Given the description of an element on the screen output the (x, y) to click on. 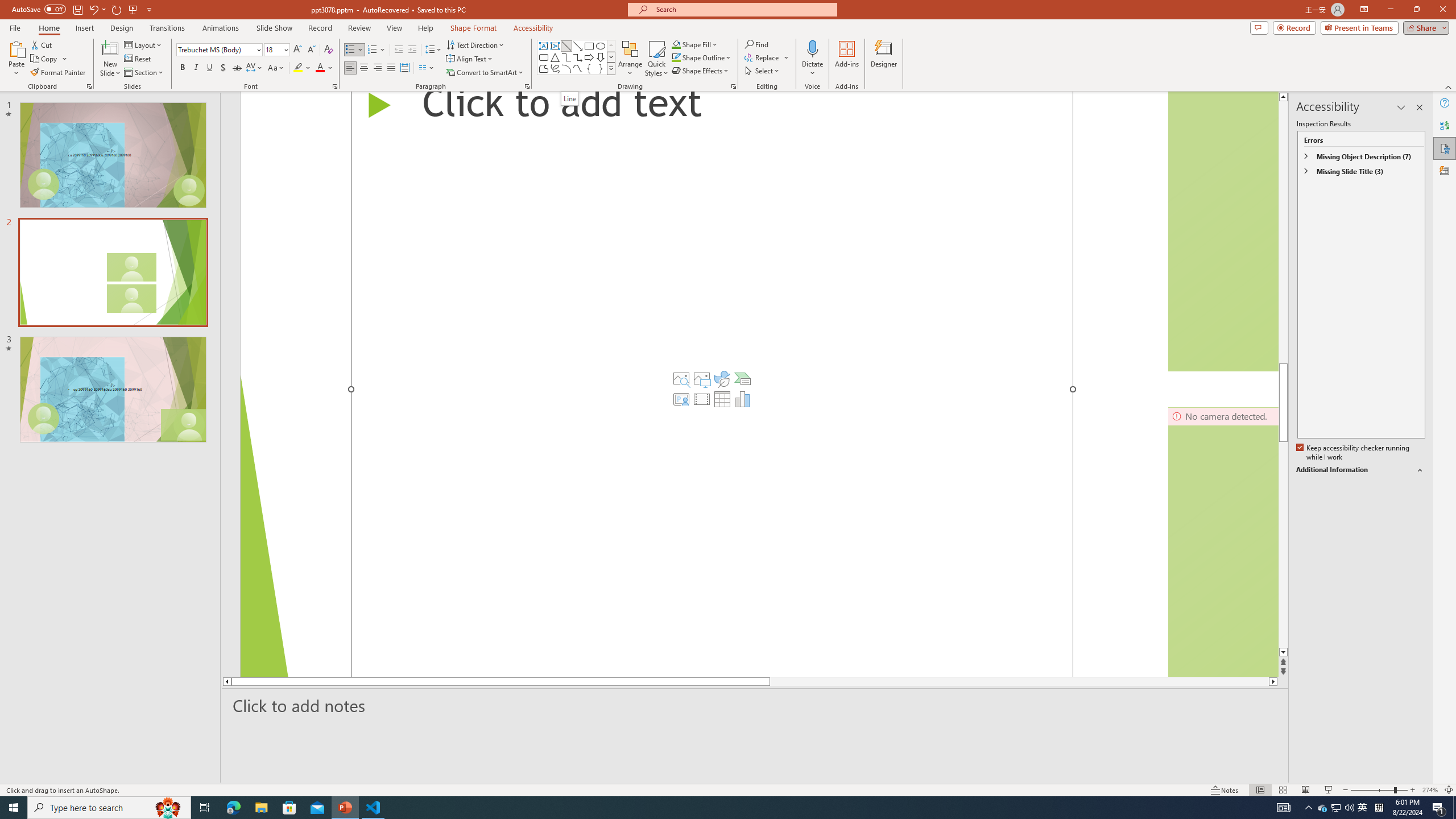
Oval (600, 45)
Copy (49, 58)
Underline (209, 67)
Center (363, 67)
Slide Notes (755, 705)
Line (569, 98)
Insert Cameo (681, 398)
Task Pane Options (1400, 107)
Reset (138, 58)
Columns (426, 67)
Translator (1444, 125)
